Given the description of an element on the screen output the (x, y) to click on. 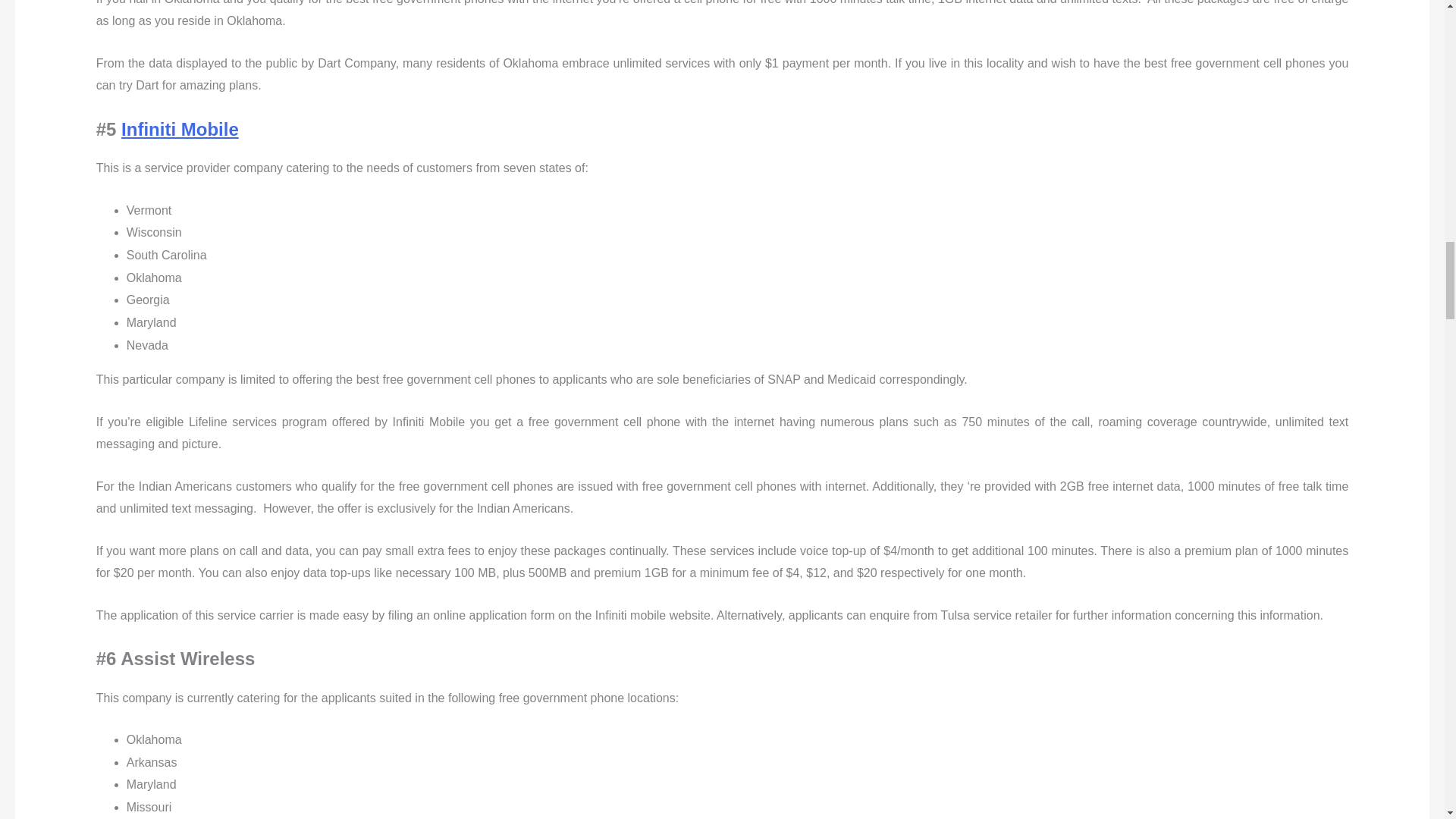
Infiniti Mobile (179, 128)
